Given the description of an element on the screen output the (x, y) to click on. 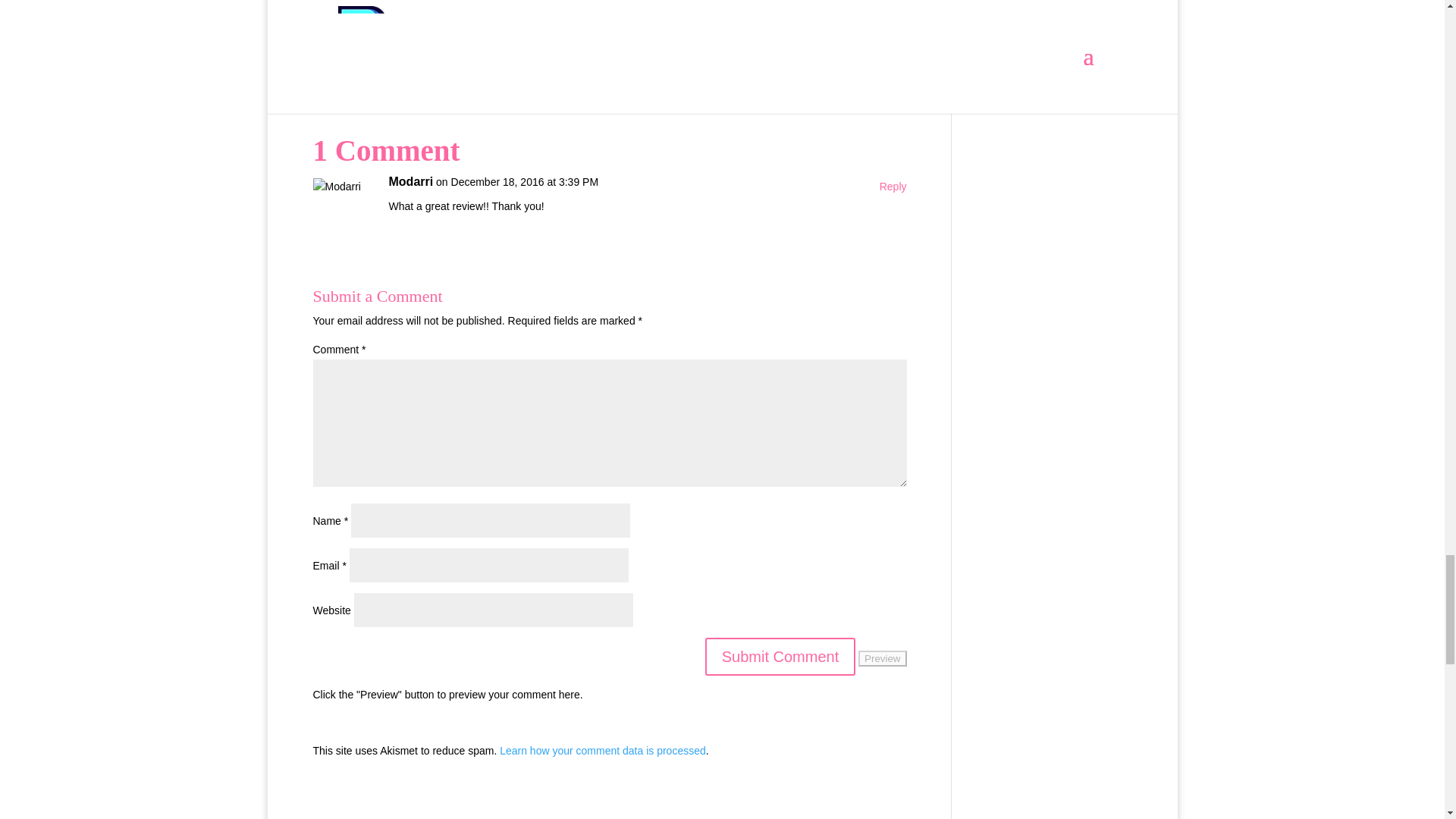
Modarri-06 (609, 11)
Reply (893, 187)
Modarri-05 (396, 11)
Modarri-07 (821, 11)
Modarri (410, 181)
Submit Comment (780, 656)
Preview (882, 658)
